Given the description of an element on the screen output the (x, y) to click on. 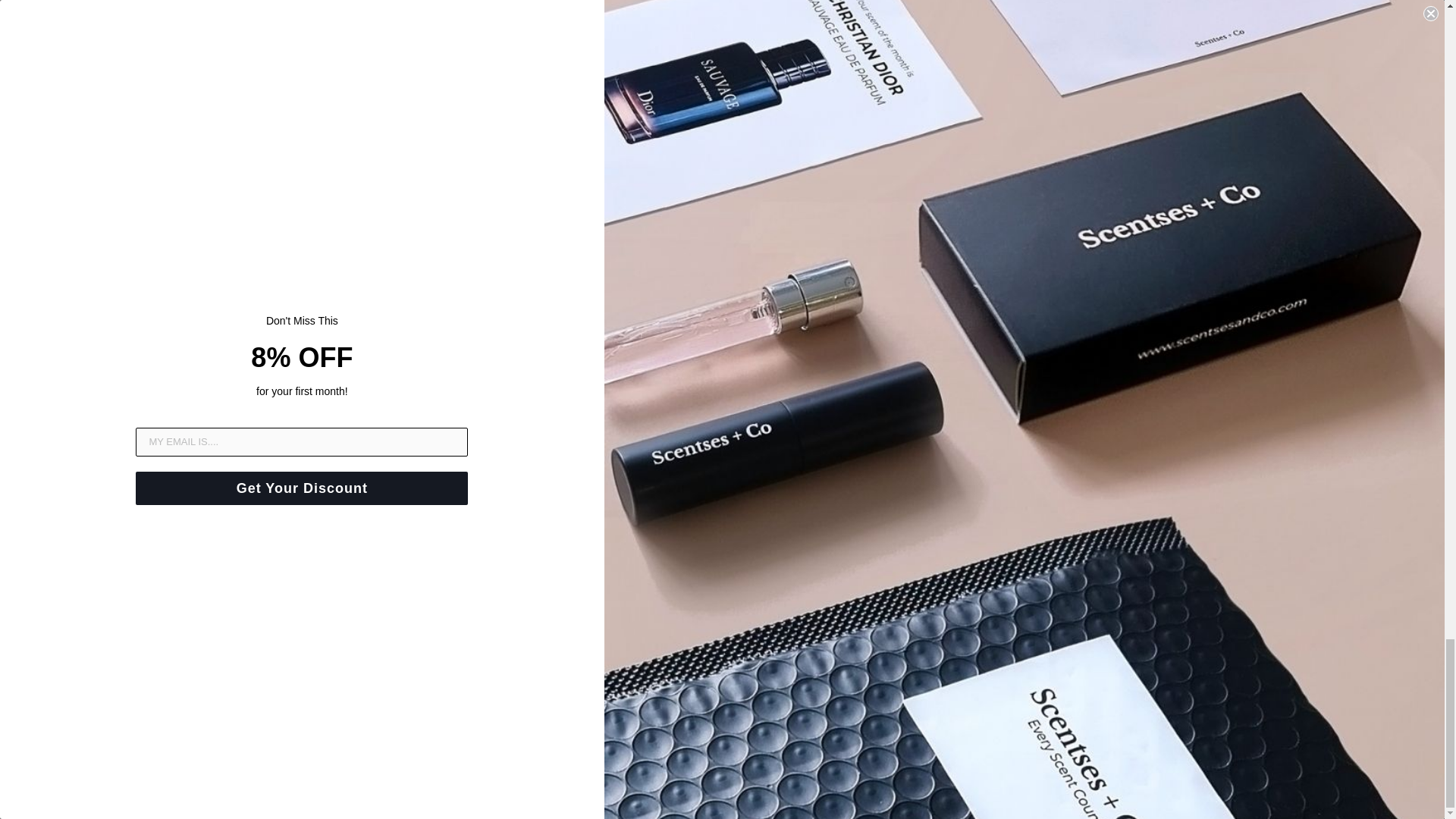
Mastercard (46, 778)
American Express (14, 778)
Visa (79, 778)
